Given the description of an element on the screen output the (x, y) to click on. 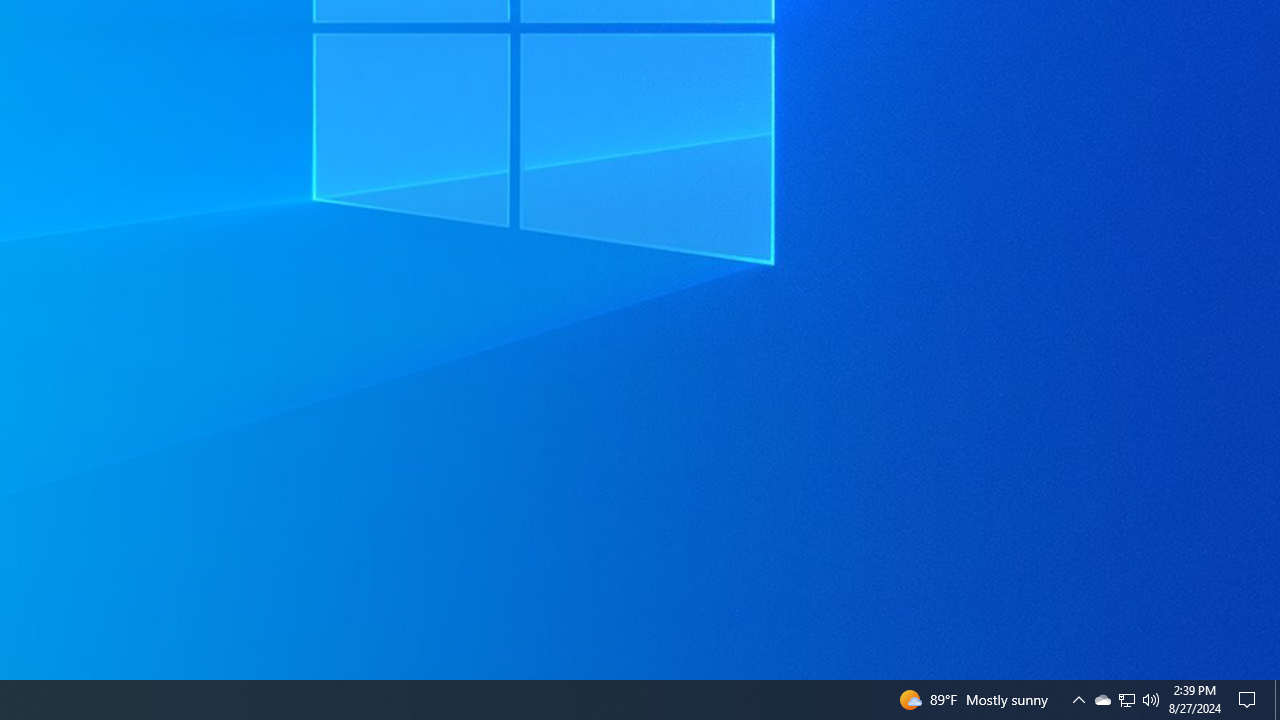
Action Center, No new notifications (1250, 699)
Show desktop (1126, 699)
User Promoted Notification Area (1277, 699)
Notification Chevron (1126, 699)
Q2790: 100% (1102, 699)
